Given the description of an element on the screen output the (x, y) to click on. 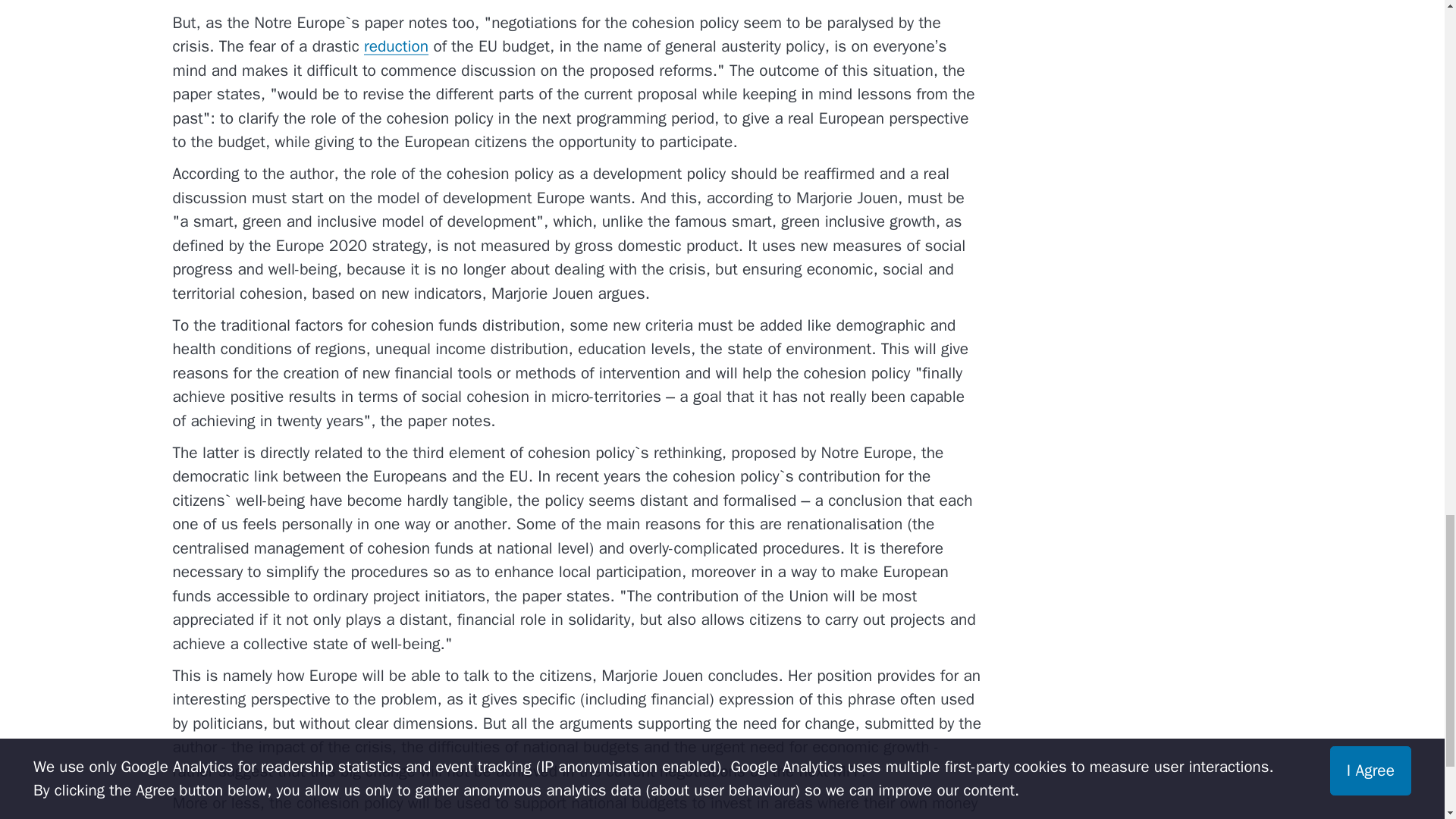
reduction (396, 46)
